Given the description of an element on the screen output the (x, y) to click on. 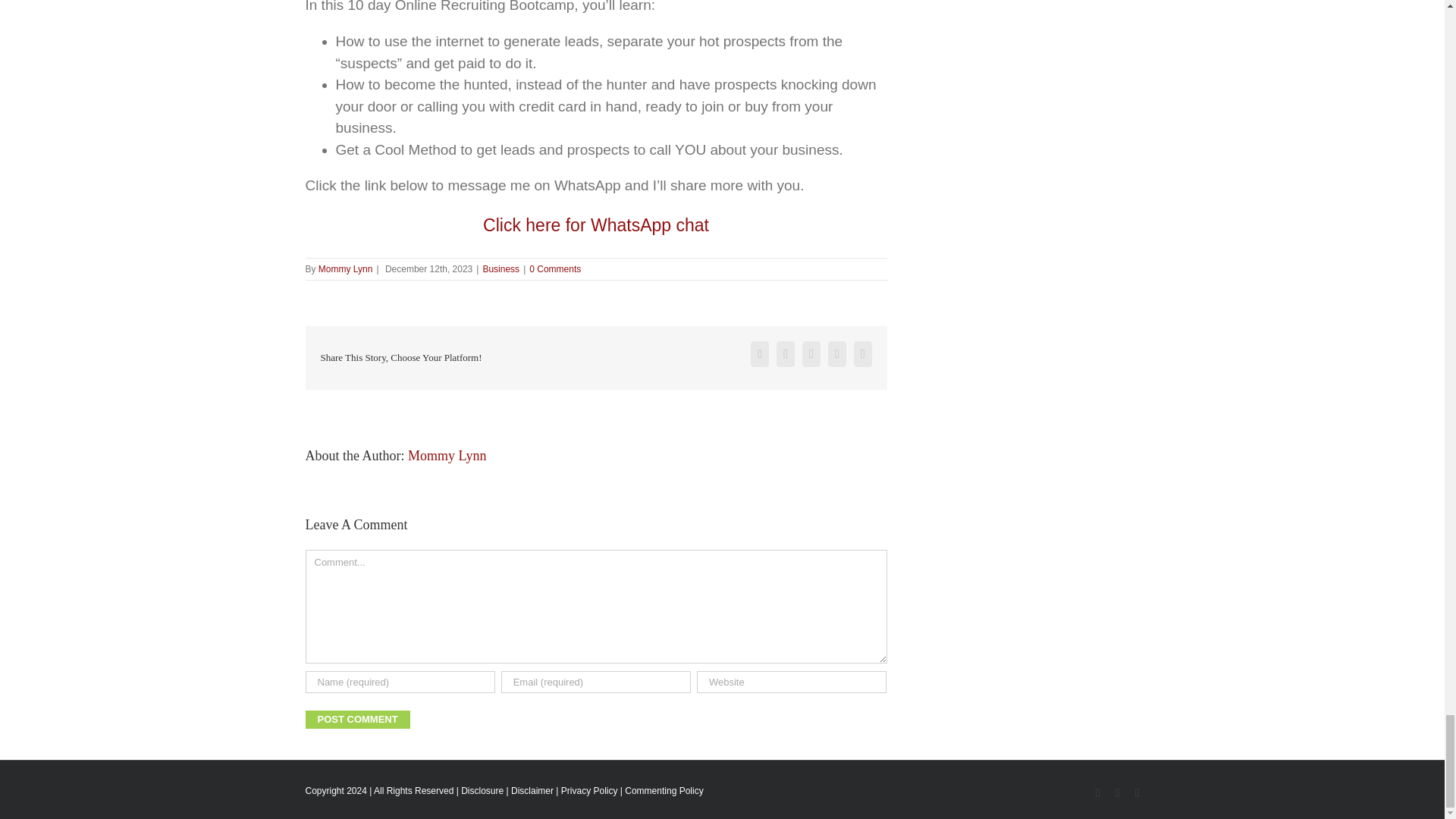
Commenting Policy (663, 790)
Facebook (1117, 793)
Instagram (1098, 793)
Instagram (1098, 793)
Email (862, 353)
Mommy Lynn (446, 455)
Facebook (1117, 793)
Facebook (759, 353)
Disclaimer (532, 790)
Mommy Lynn (345, 268)
Linkedin (1137, 793)
Posts by Mommy Lynn (446, 455)
Email (862, 353)
Twitter (785, 353)
Post Comment (356, 719)
